Given the description of an element on the screen output the (x, y) to click on. 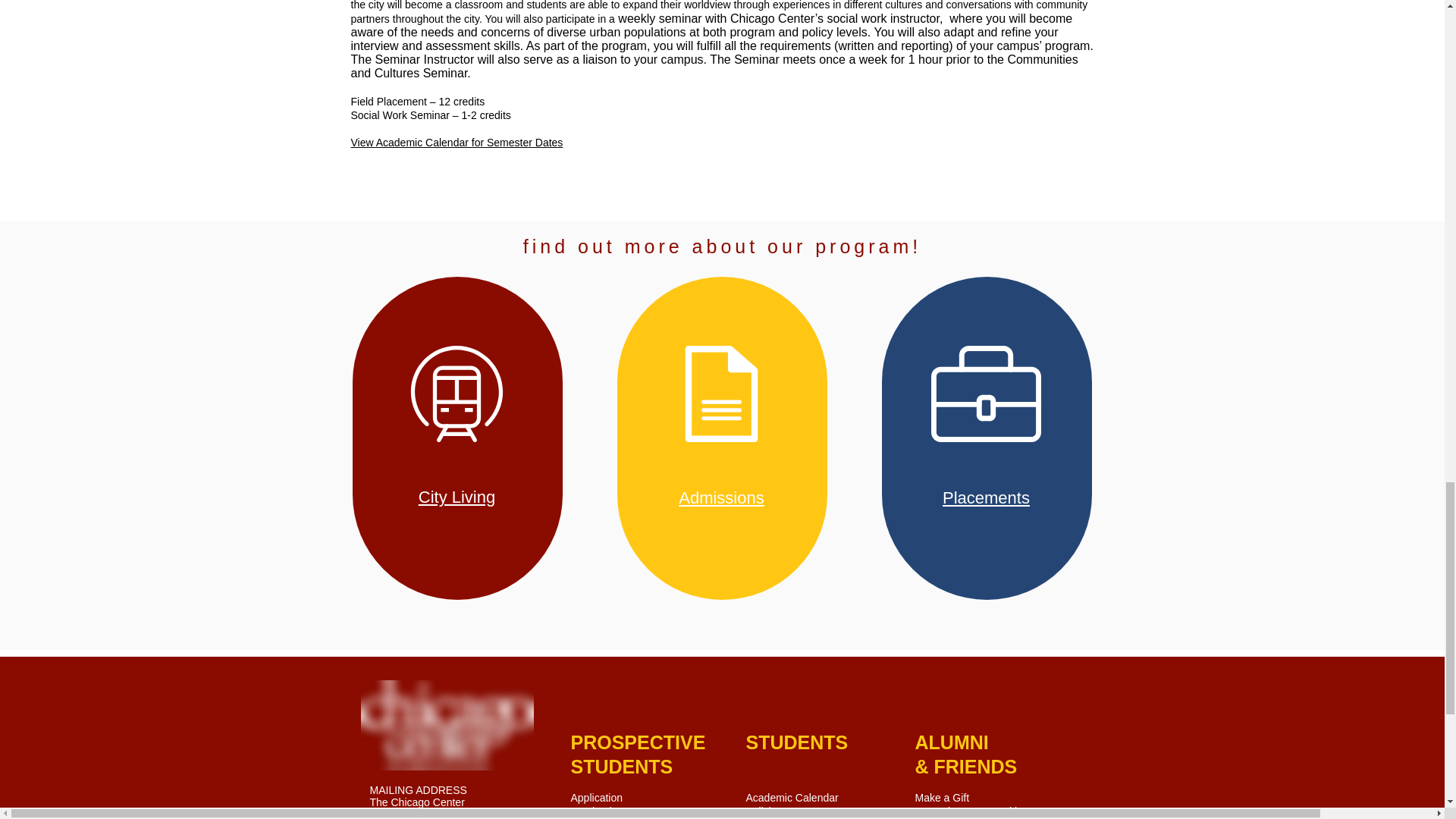
View Academic Calendar for Semester Dates (456, 142)
City Living (457, 496)
